Given the description of an element on the screen output the (x, y) to click on. 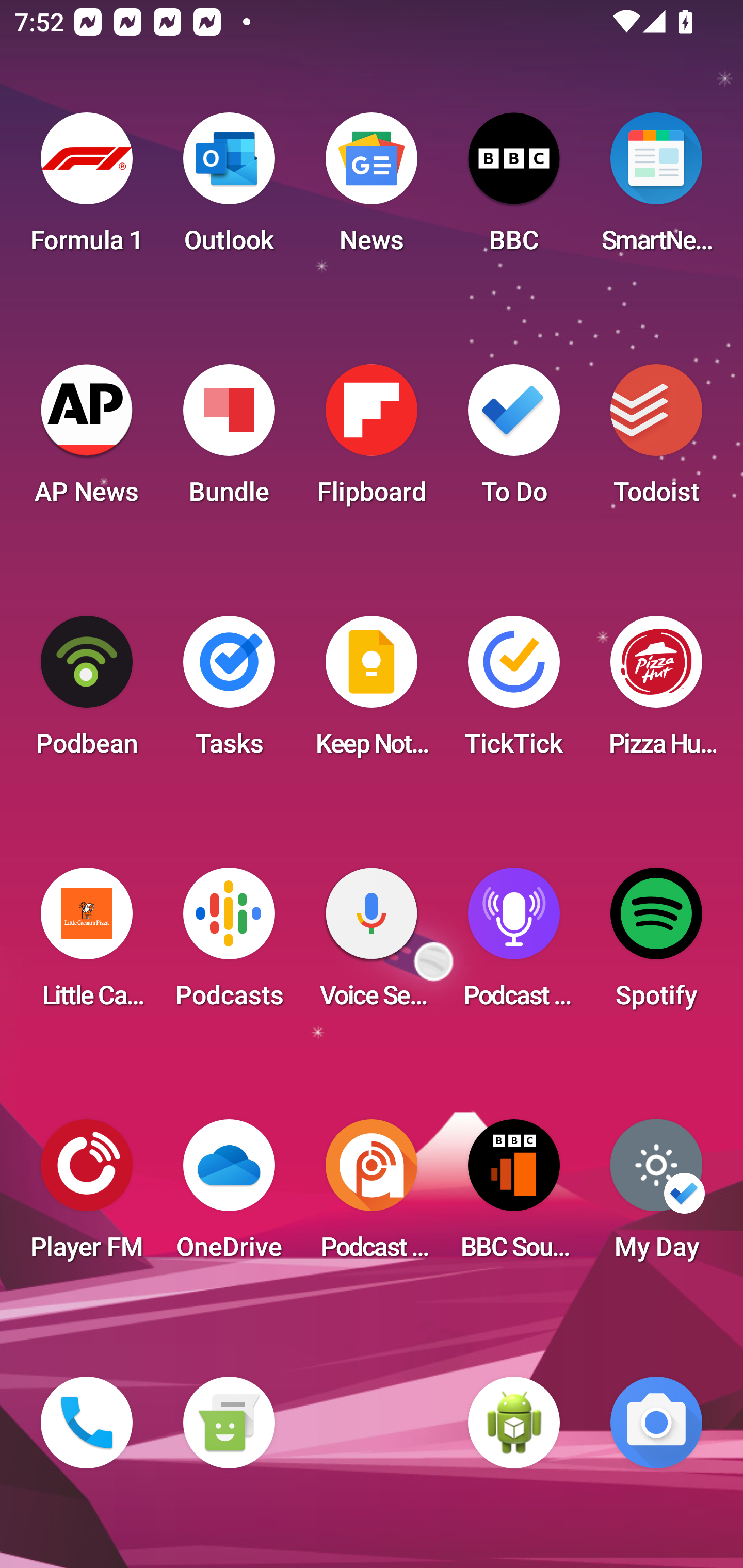
Formula 1 (86, 188)
Outlook (228, 188)
News (371, 188)
BBC (513, 188)
SmartNews (656, 188)
AP News (86, 440)
Bundle (228, 440)
Flipboard (371, 440)
To Do (513, 440)
Todoist (656, 440)
Podbean (86, 692)
Tasks (228, 692)
Keep Notes (371, 692)
TickTick (513, 692)
Pizza Hut HK & Macau (656, 692)
Little Caesars Pizza (86, 943)
Podcasts (228, 943)
Voice Search (371, 943)
Podcast Player (513, 943)
Spotify (656, 943)
Player FM (86, 1195)
OneDrive (228, 1195)
Podcast Addict (371, 1195)
BBC Sounds (513, 1195)
My Day (656, 1195)
Phone (86, 1422)
Messaging (228, 1422)
WebView Browser Tester (513, 1422)
Camera (656, 1422)
